Given the description of an element on the screen output the (x, y) to click on. 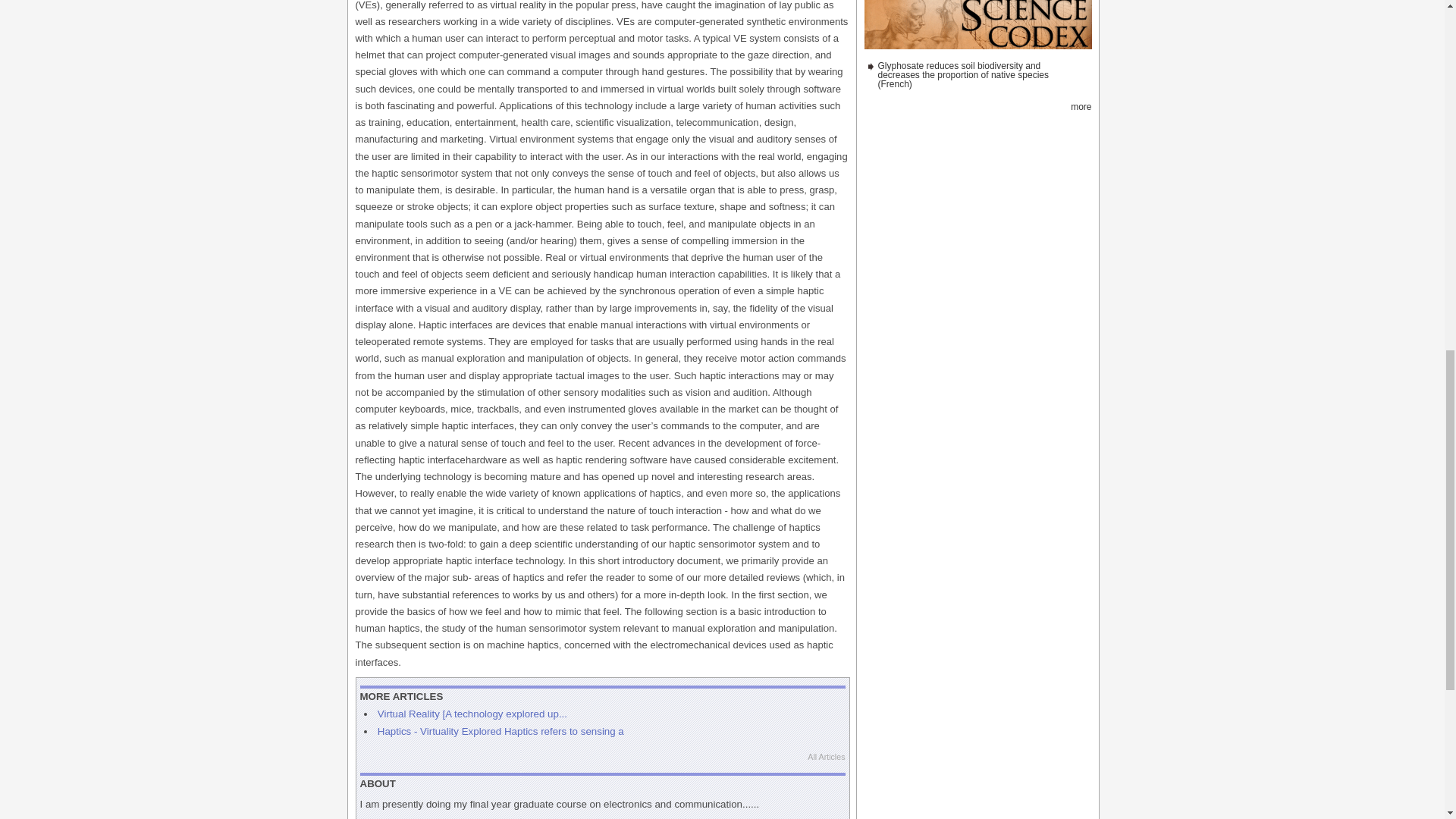
View this feed's recent news. (1080, 106)
